Given the description of an element on the screen output the (x, y) to click on. 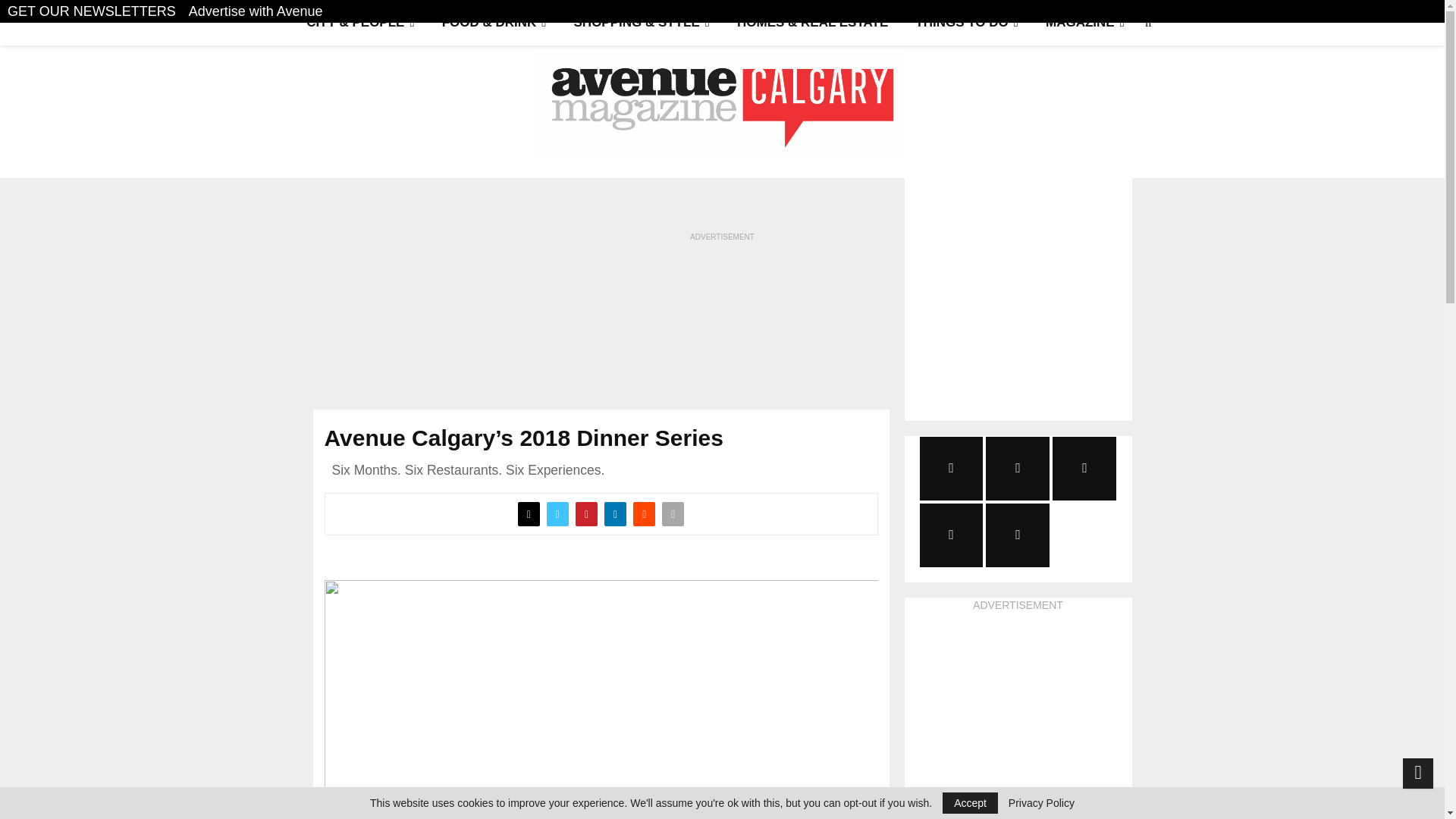
3rd party ad content (1017, 708)
MAGAZINE (1085, 22)
GET OUR NEWSLETTERS (91, 11)
3rd party ad content (722, 310)
THINGS TO DO (966, 22)
Advertise with Avenue (256, 11)
